Given the description of an element on the screen output the (x, y) to click on. 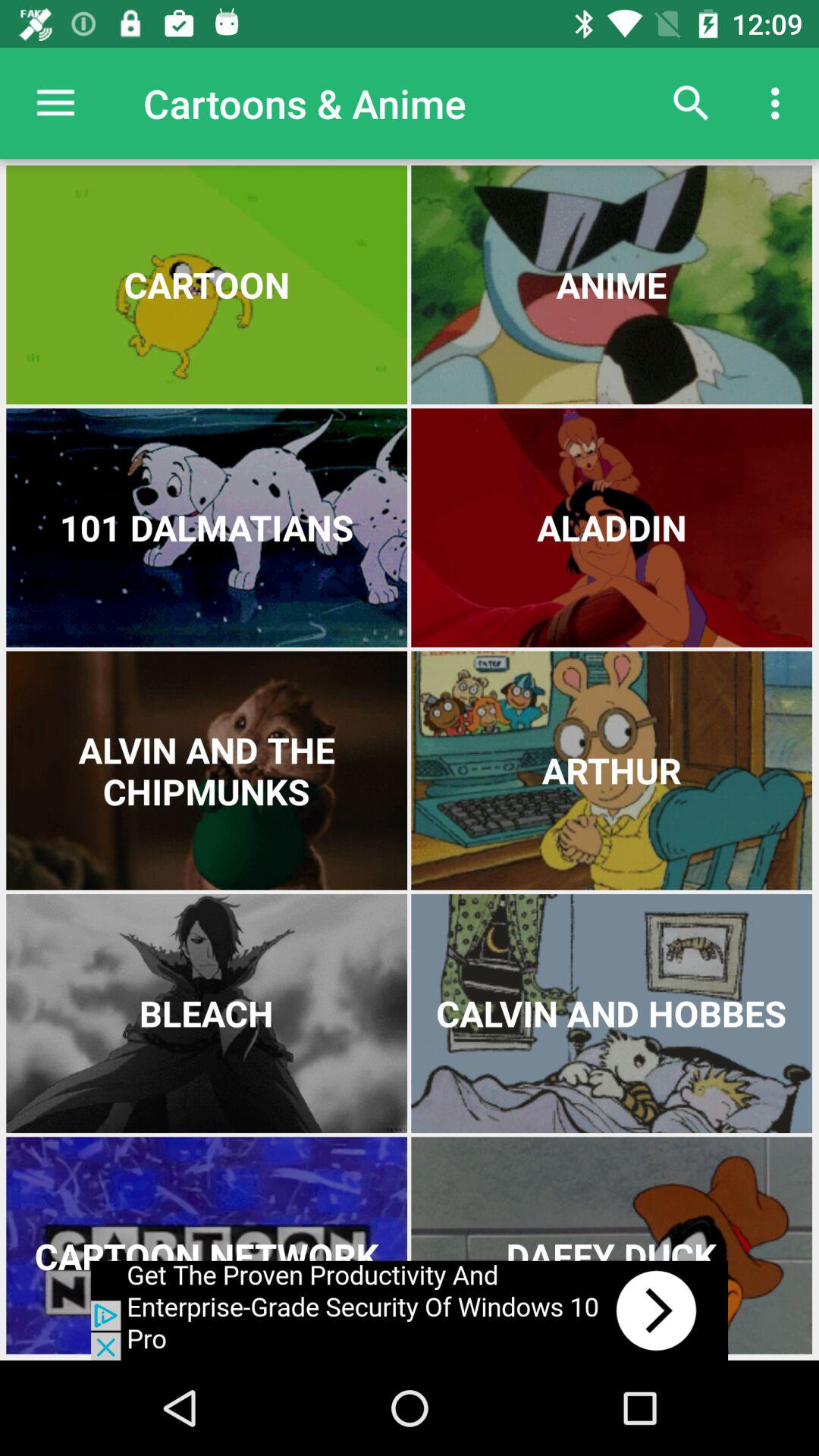
visit the advertisement site (409, 1310)
